Given the description of an element on the screen output the (x, y) to click on. 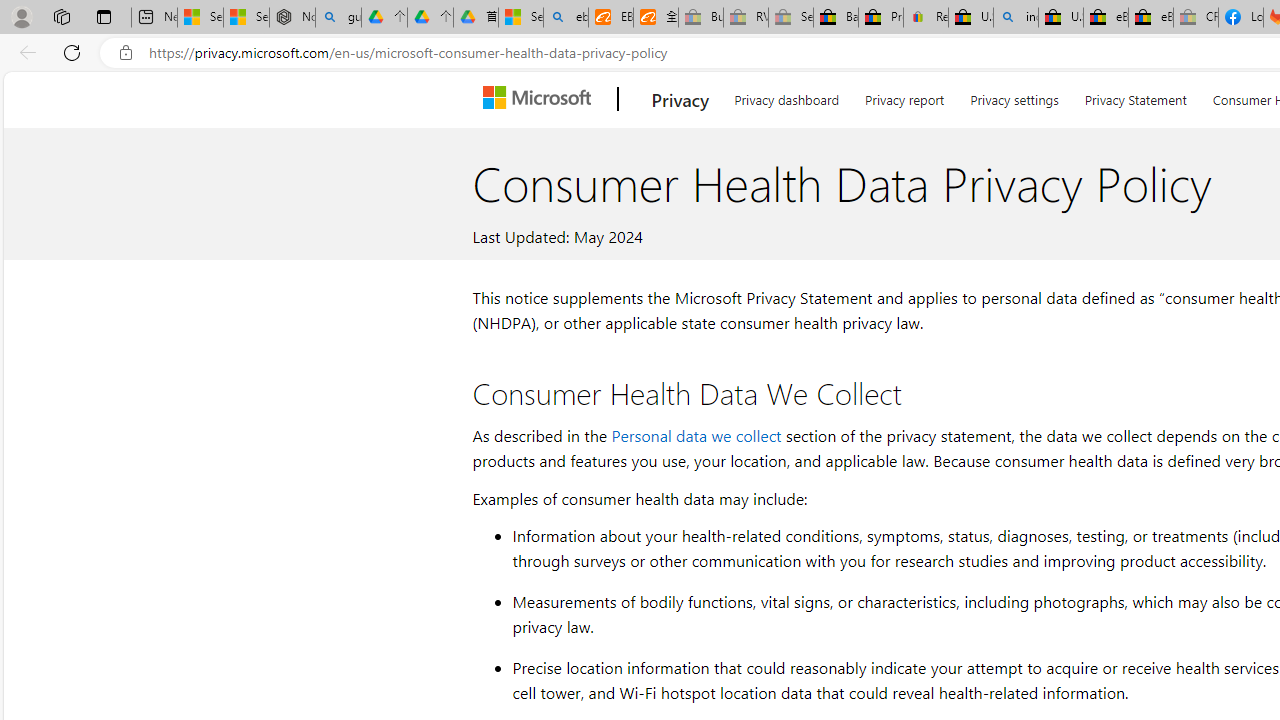
Privacy Statement (1135, 96)
Privacy settings (1014, 96)
Sell worldwide with eBay - Sleeping (790, 17)
Register: Create a personal eBay account (925, 17)
